Given the description of an element on the screen output the (x, y) to click on. 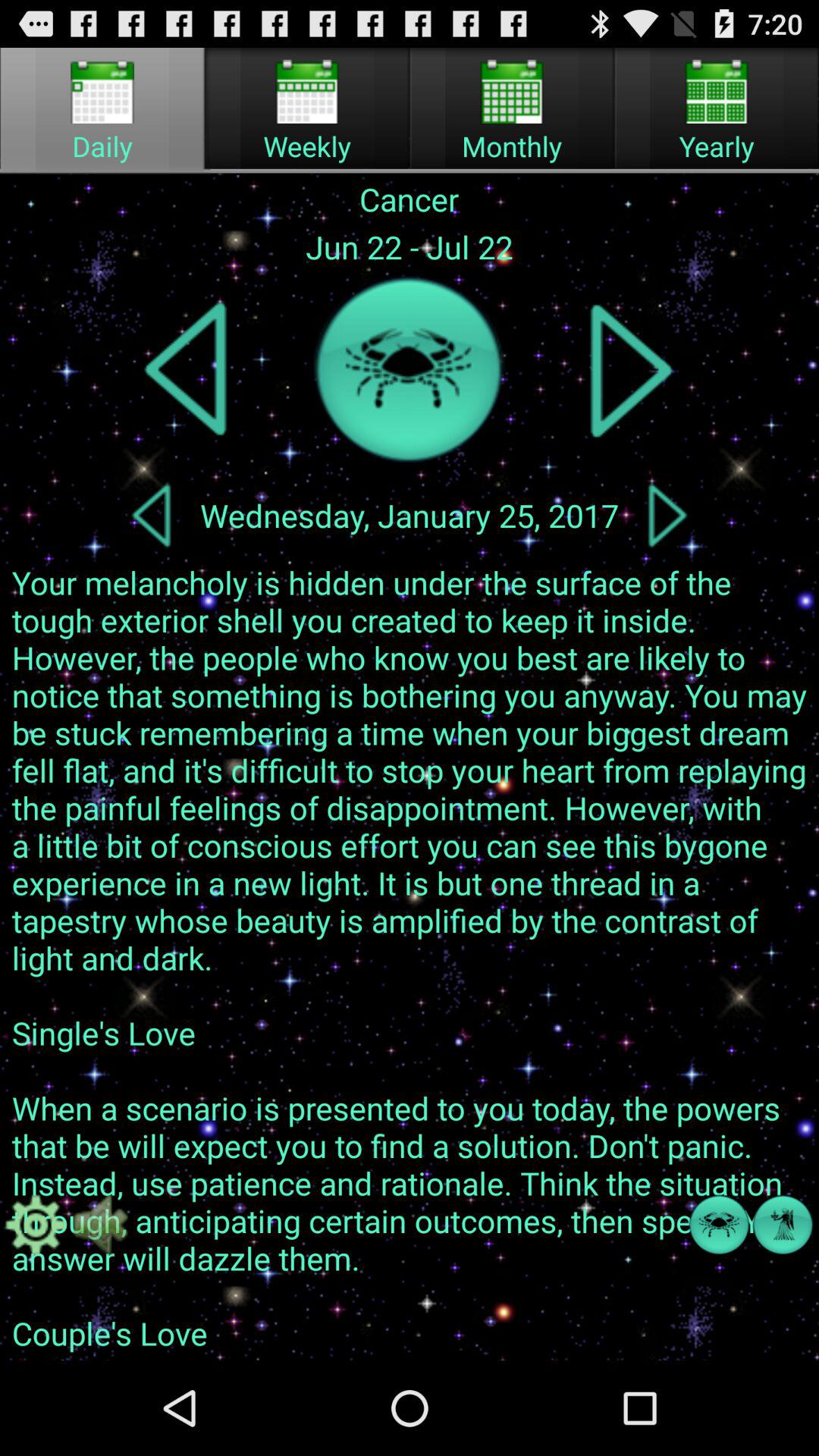
go back to previous screen (151, 514)
